Given the description of an element on the screen output the (x, y) to click on. 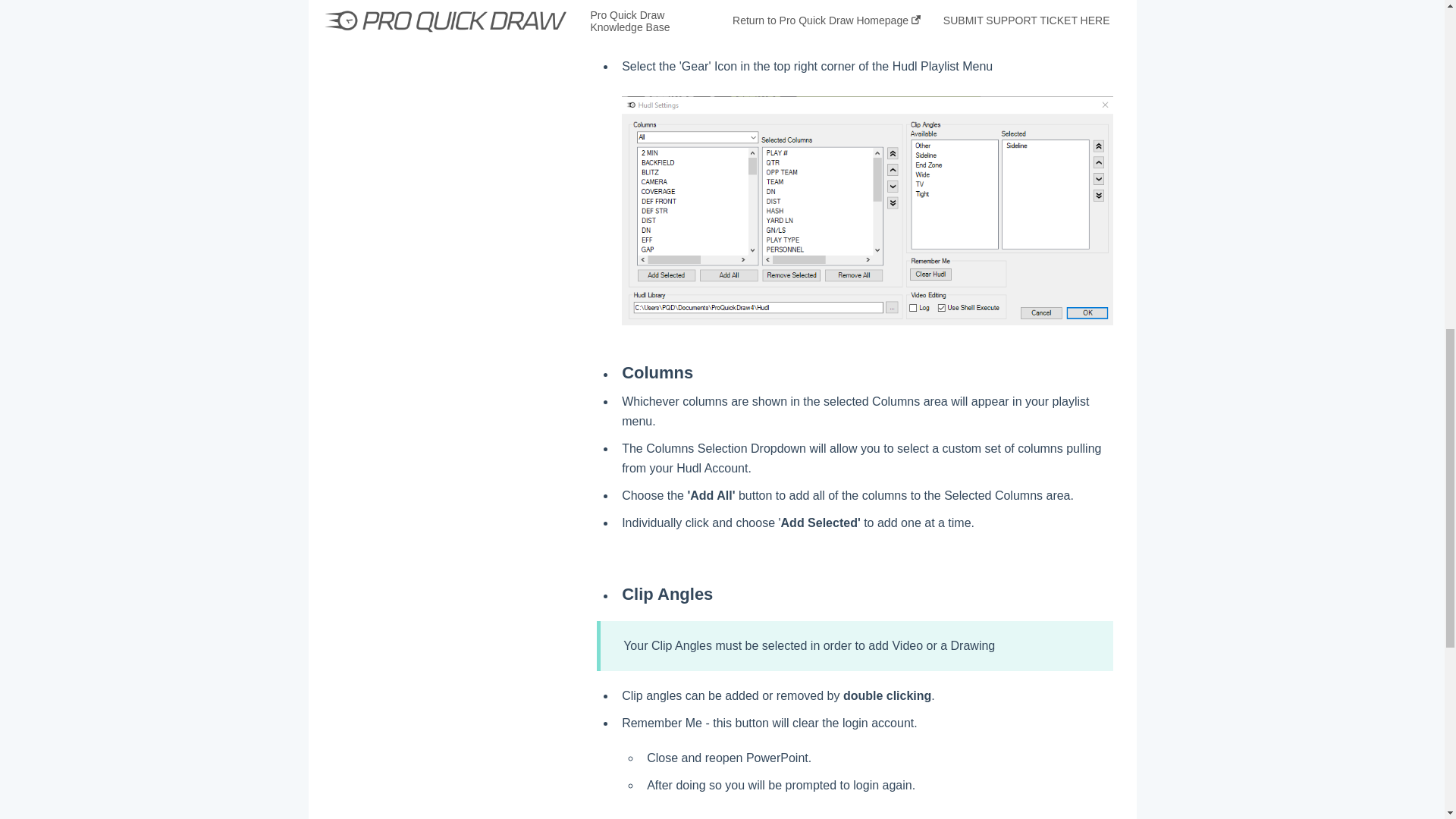
HubSpot Video (854, 7)
